Given the description of an element on the screen output the (x, y) to click on. 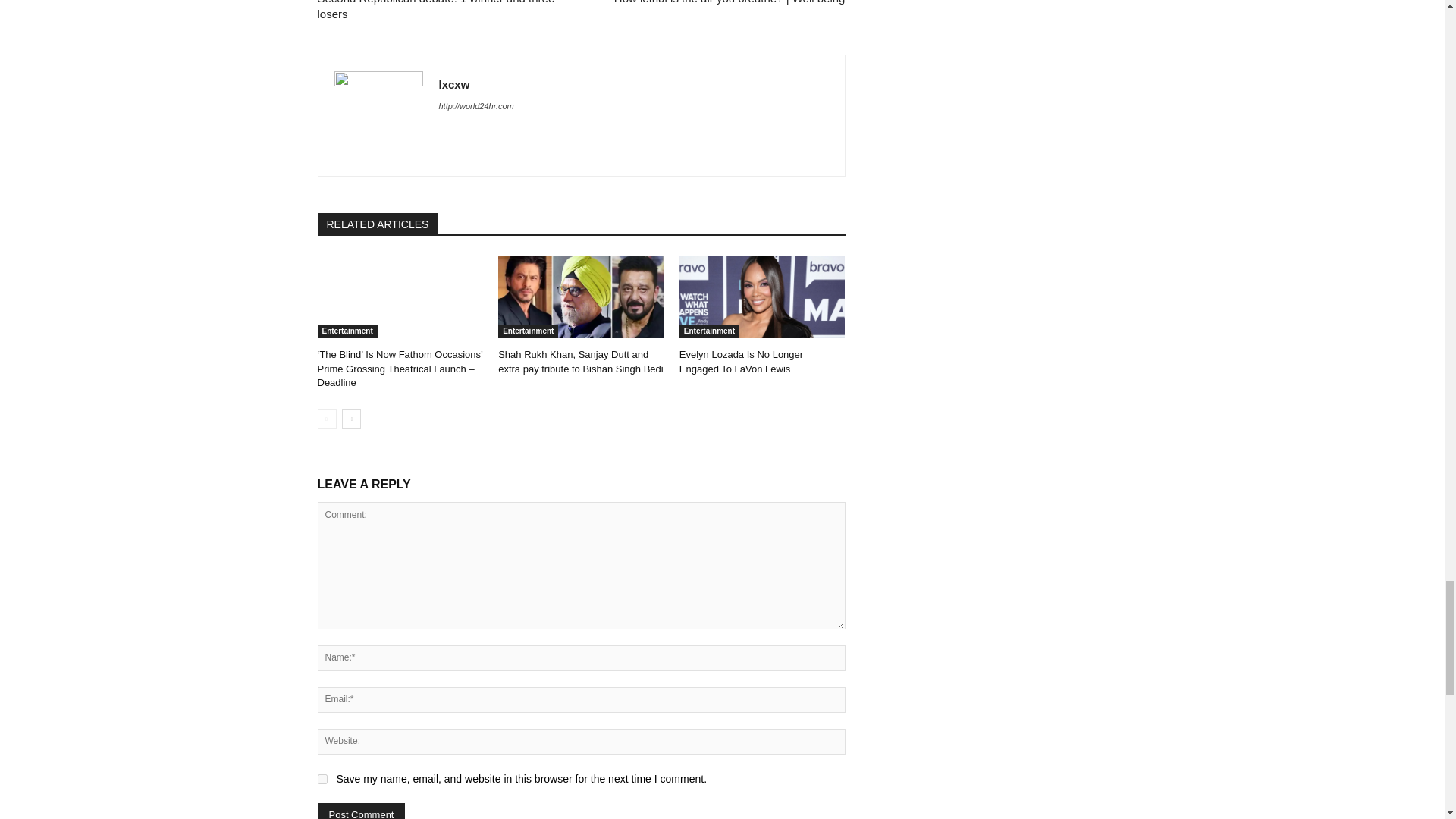
yes (321, 778)
Post Comment (360, 811)
